Given the description of an element on the screen output the (x, y) to click on. 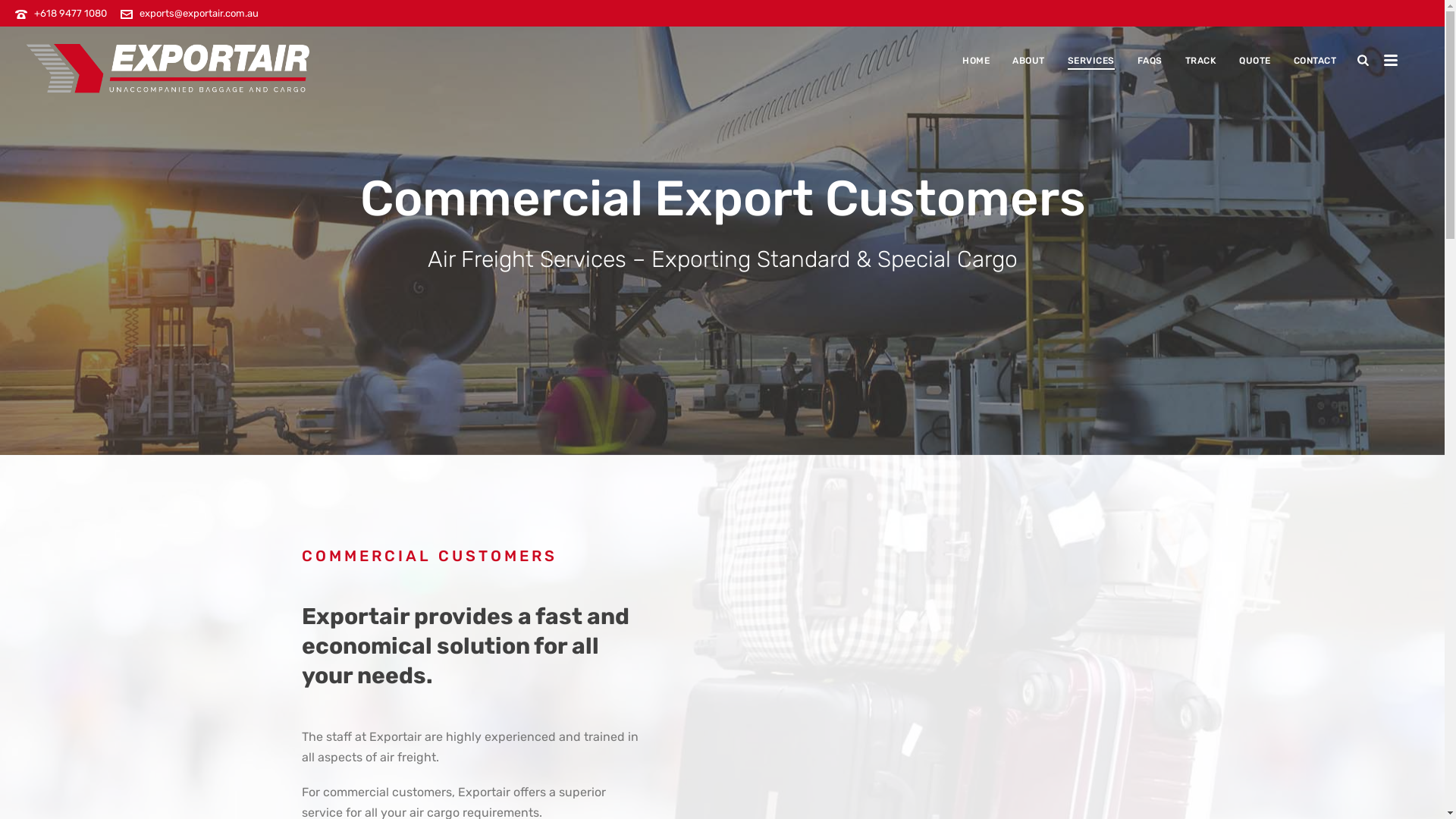
FAQS Element type: text (1149, 60)
SERVICES Element type: text (1091, 60)
QUOTE Element type: text (1254, 60)
HOME Element type: text (975, 60)
exports@exportair.com.au Element type: text (198, 12)
+618 9477 1080 Element type: text (70, 12)
TRACK Element type: text (1200, 60)
Excess Baggage Shipping Perth Element type: hover (167, 68)
ABOUT Element type: text (1028, 60)
CONTACT Element type: text (1315, 60)
